Given the description of an element on the screen output the (x, y) to click on. 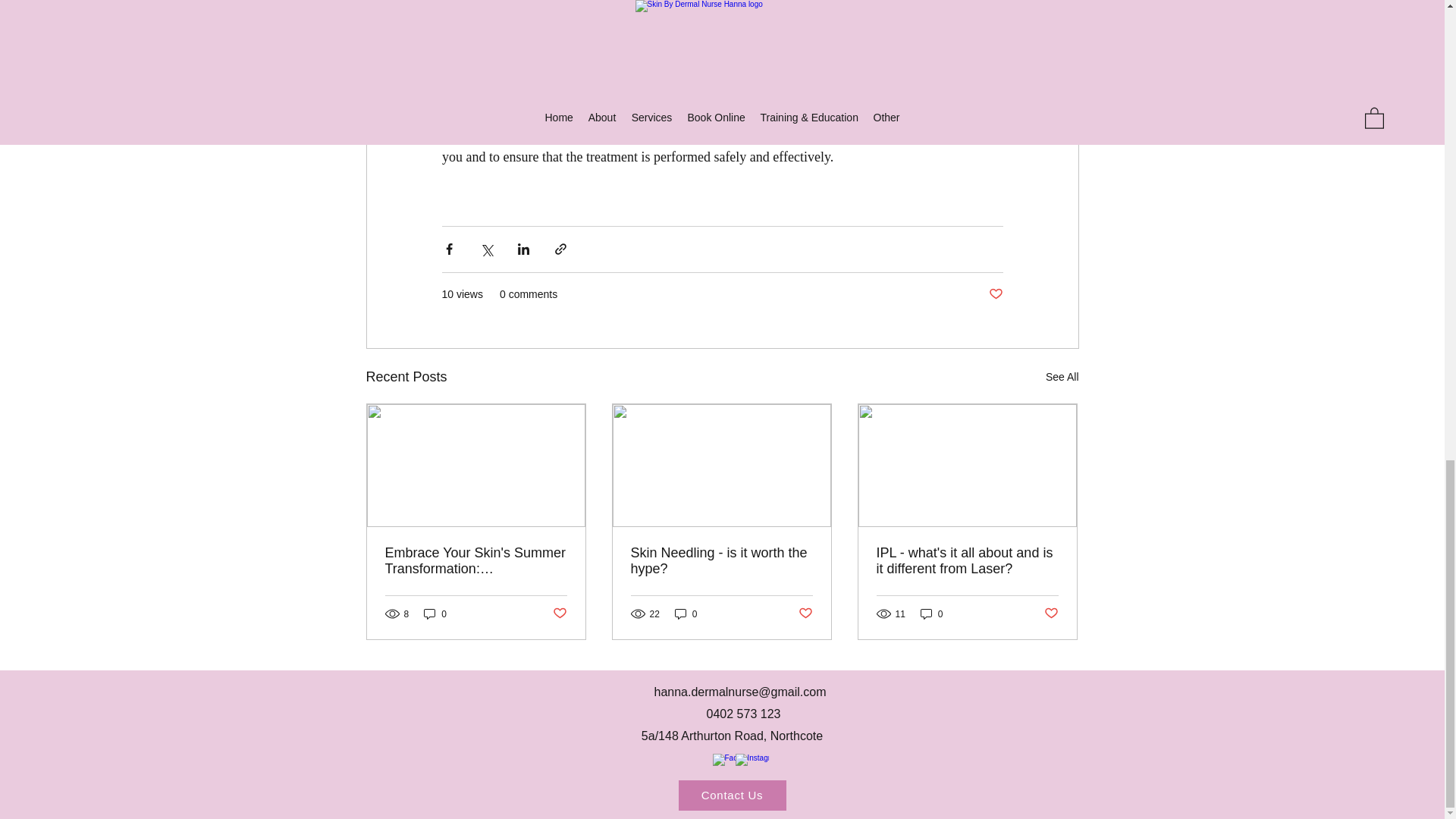
Post not marked as liked (995, 294)
Post not marked as liked (1050, 613)
0 (685, 613)
Skin Needling - is it worth the hype? (721, 561)
0 (435, 613)
Contact Us (732, 795)
IPL - what's it all about and is it different from Laser? (967, 561)
0 (931, 613)
See All (1061, 377)
Post not marked as liked (558, 613)
Post not marked as liked (804, 613)
